Given the description of an element on the screen output the (x, y) to click on. 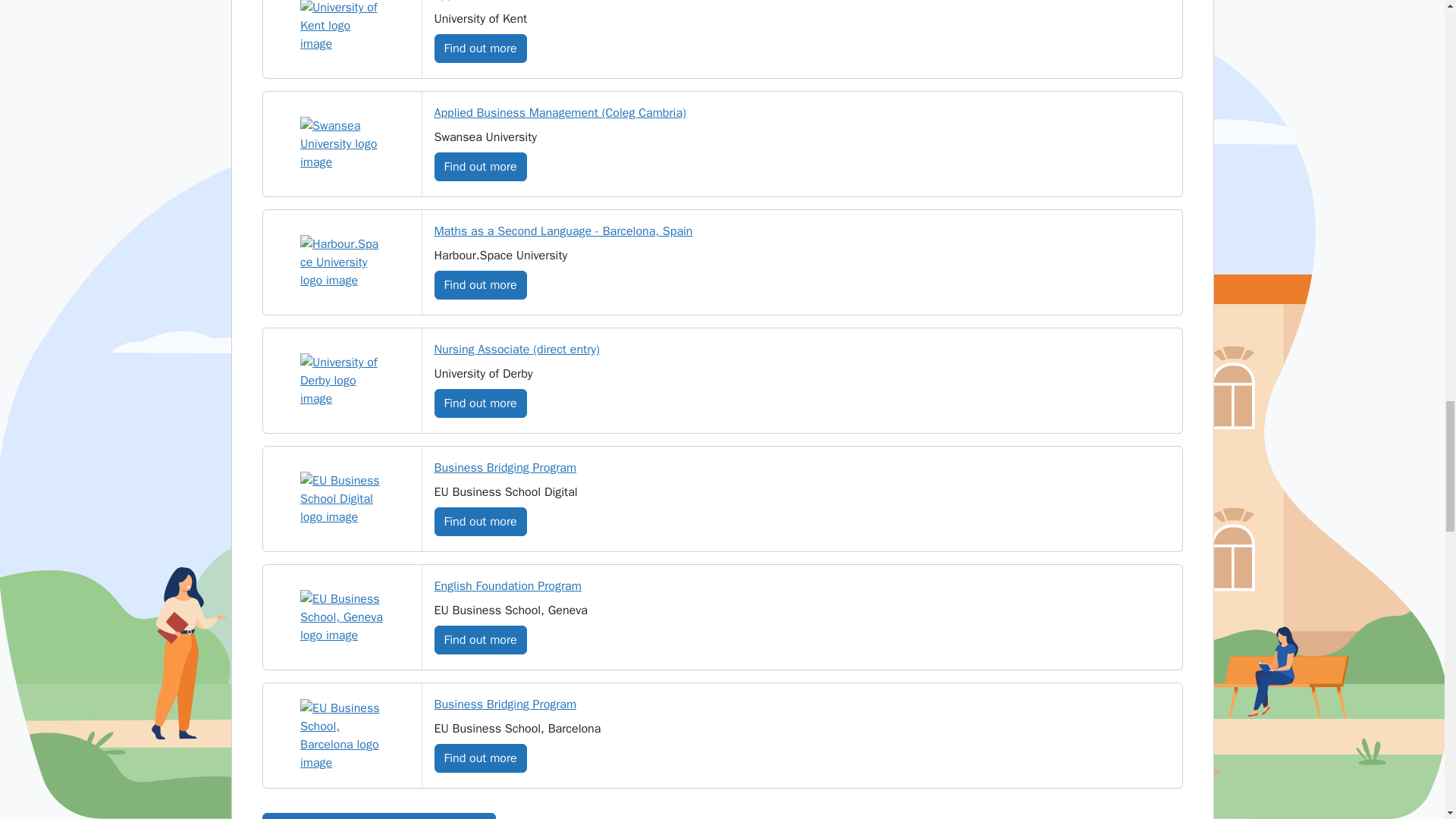
EU Business School Digital (341, 498)
Harbour.Space University (341, 262)
Swansea University (341, 144)
EU Business School, Barcelona (341, 735)
EU Business School, Geneva (341, 616)
University of Derby (341, 379)
University of Kent (341, 26)
